Given the description of an element on the screen output the (x, y) to click on. 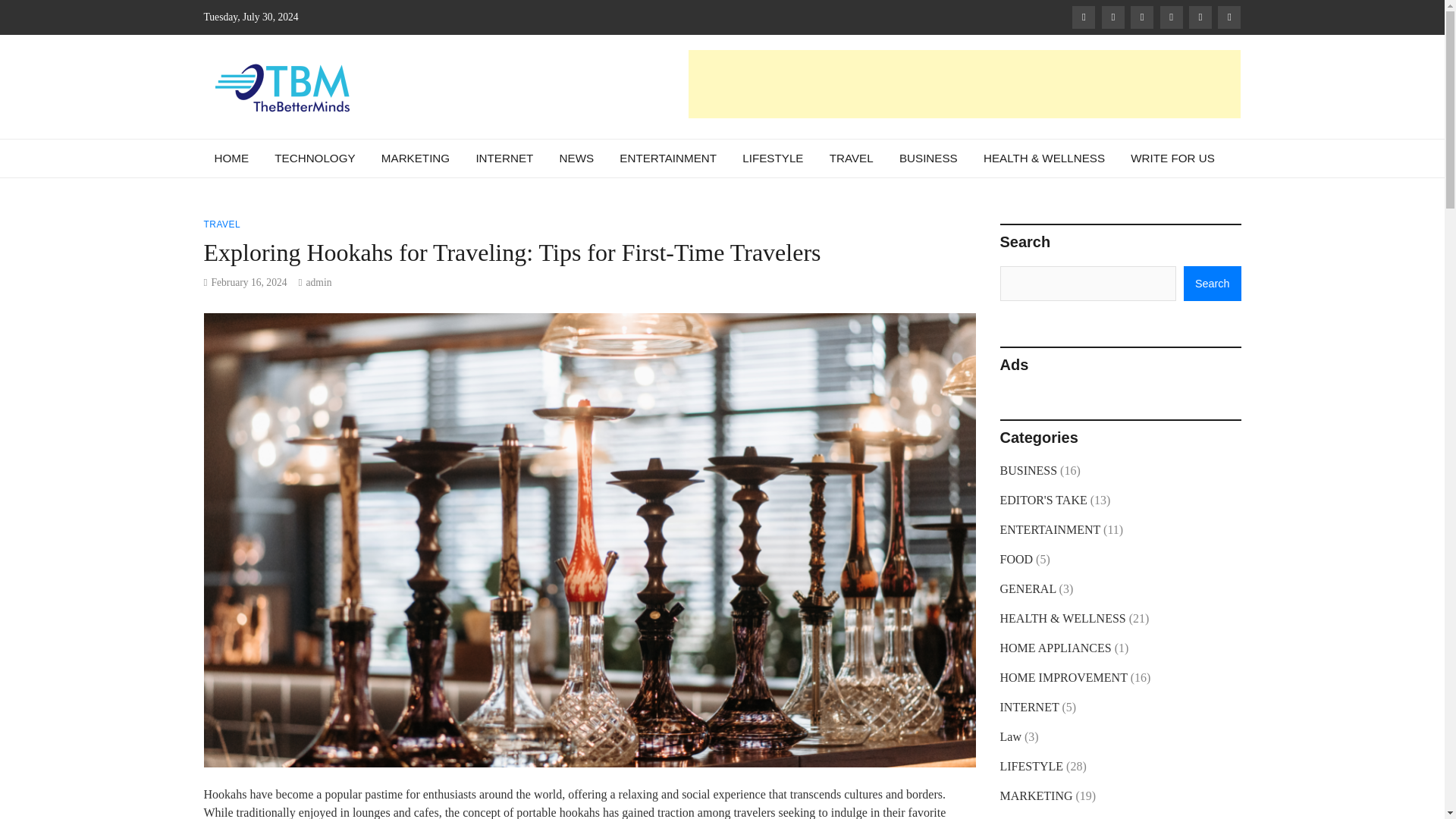
NEWS (576, 158)
WRITE FOR US (1172, 158)
HOME (231, 158)
February 16, 2024 (248, 282)
BUSINESS (928, 158)
MARKETING (415, 158)
LIFESTYLE (771, 158)
TRAVEL (221, 223)
The Better Minds (350, 142)
TRAVEL (851, 158)
TECHNOLOGY (314, 158)
INTERNET (504, 158)
ENTERTAINMENT (668, 158)
admin (318, 282)
